Given the description of an element on the screen output the (x, y) to click on. 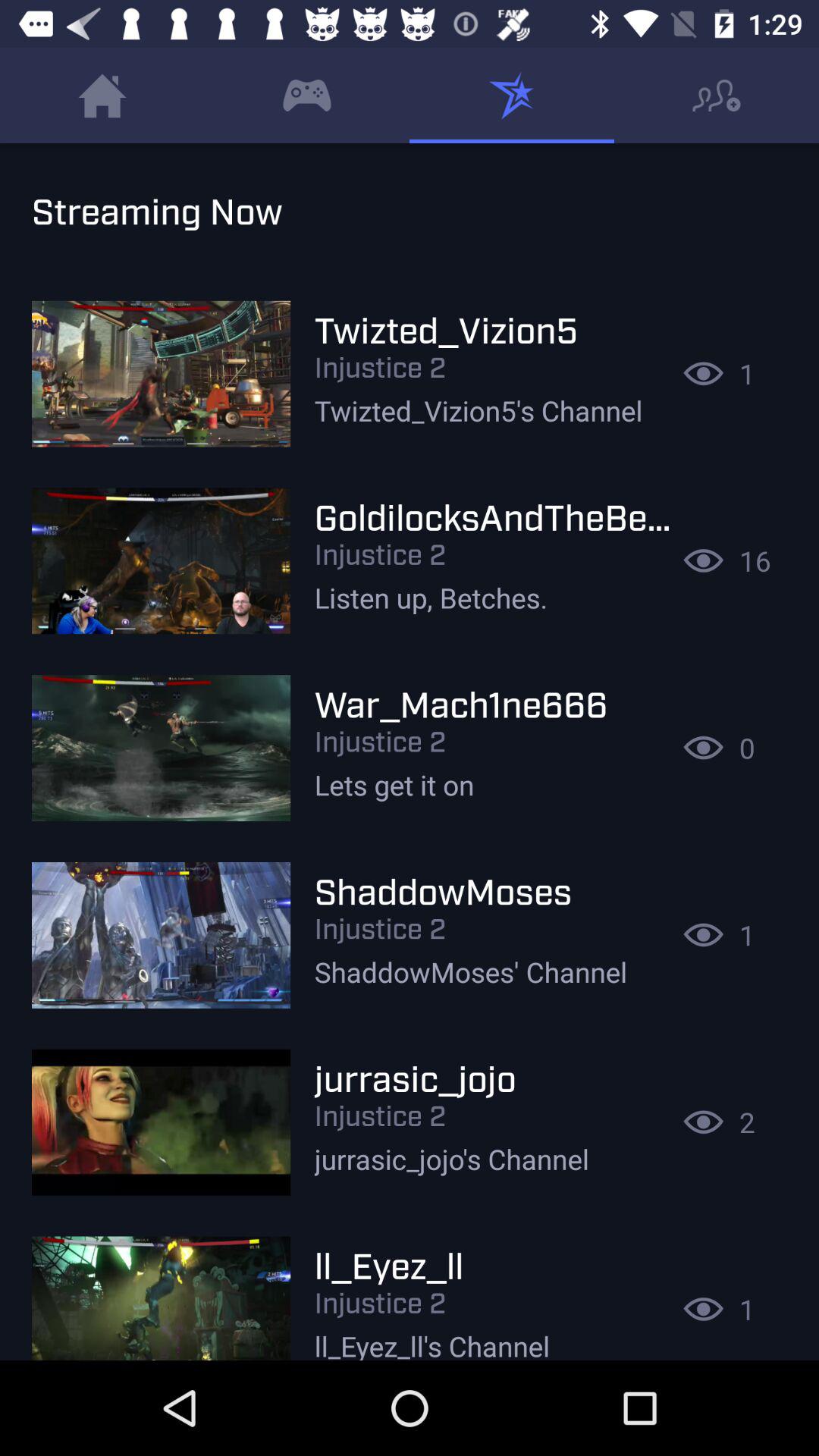
go to the second thumbnail (160, 560)
click the option next to the home icon (307, 95)
select the second thumbnail from bottom (160, 1121)
go to the last image (160, 1289)
click the first image (160, 373)
